Given the description of an element on the screen output the (x, y) to click on. 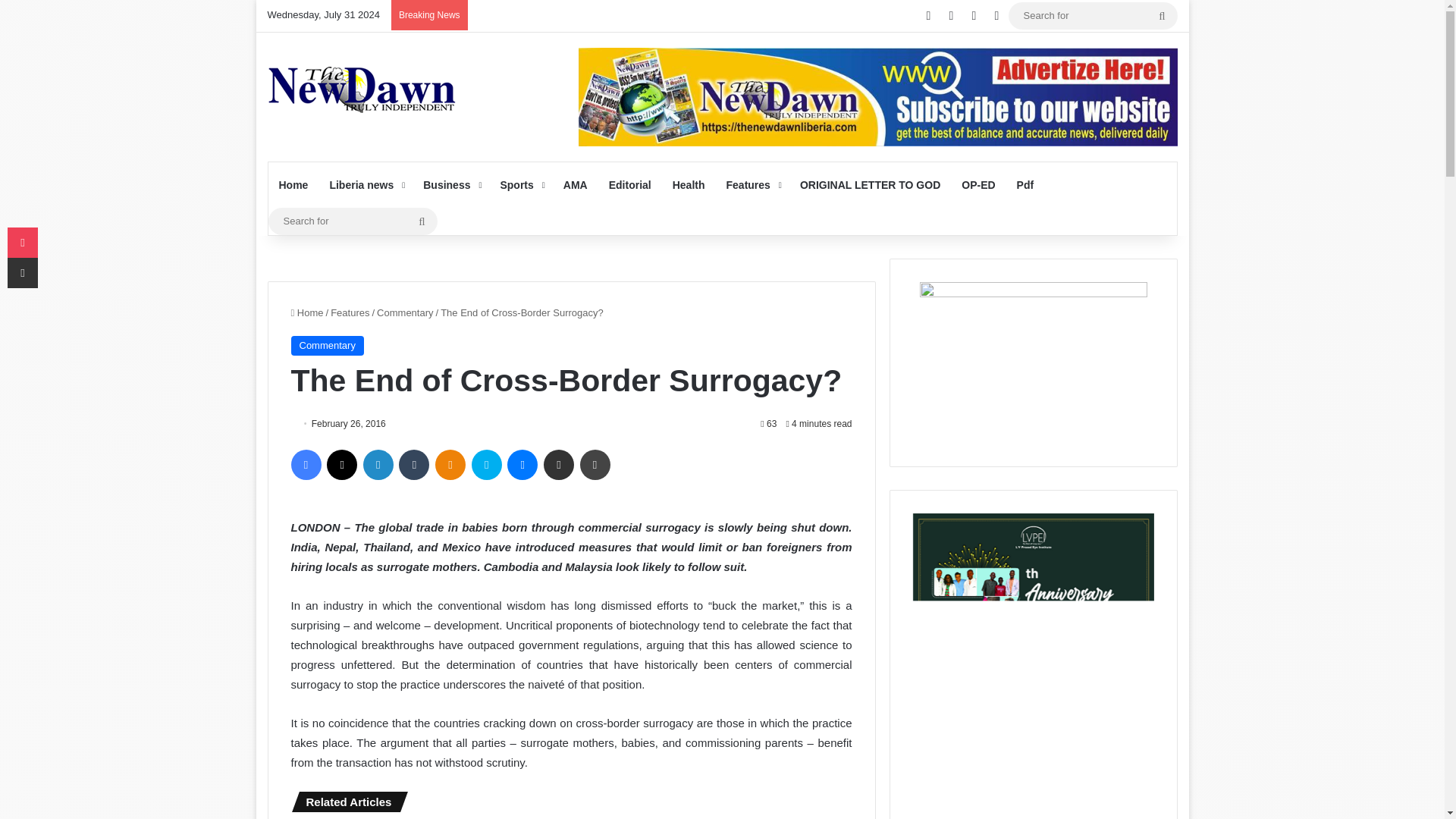
Messenger (521, 464)
Print (594, 464)
Search for (1093, 15)
Skype (486, 464)
Tumblr (413, 464)
Search for (352, 221)
Facebook (306, 464)
Share via Email (558, 464)
Sports (520, 185)
